Given the description of an element on the screen output the (x, y) to click on. 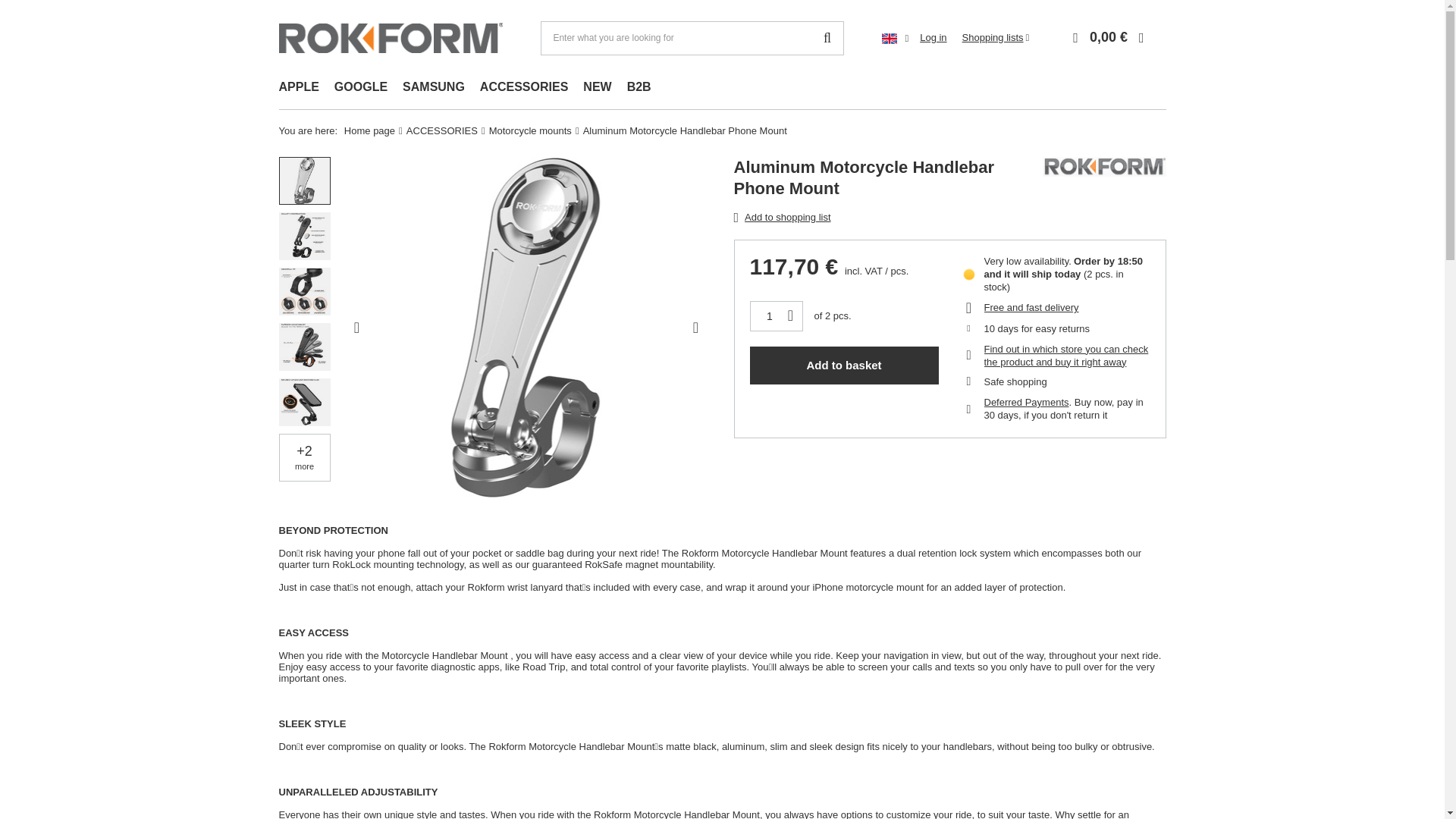
APPLE (298, 88)
1 (769, 316)
